Given the description of an element on the screen output the (x, y) to click on. 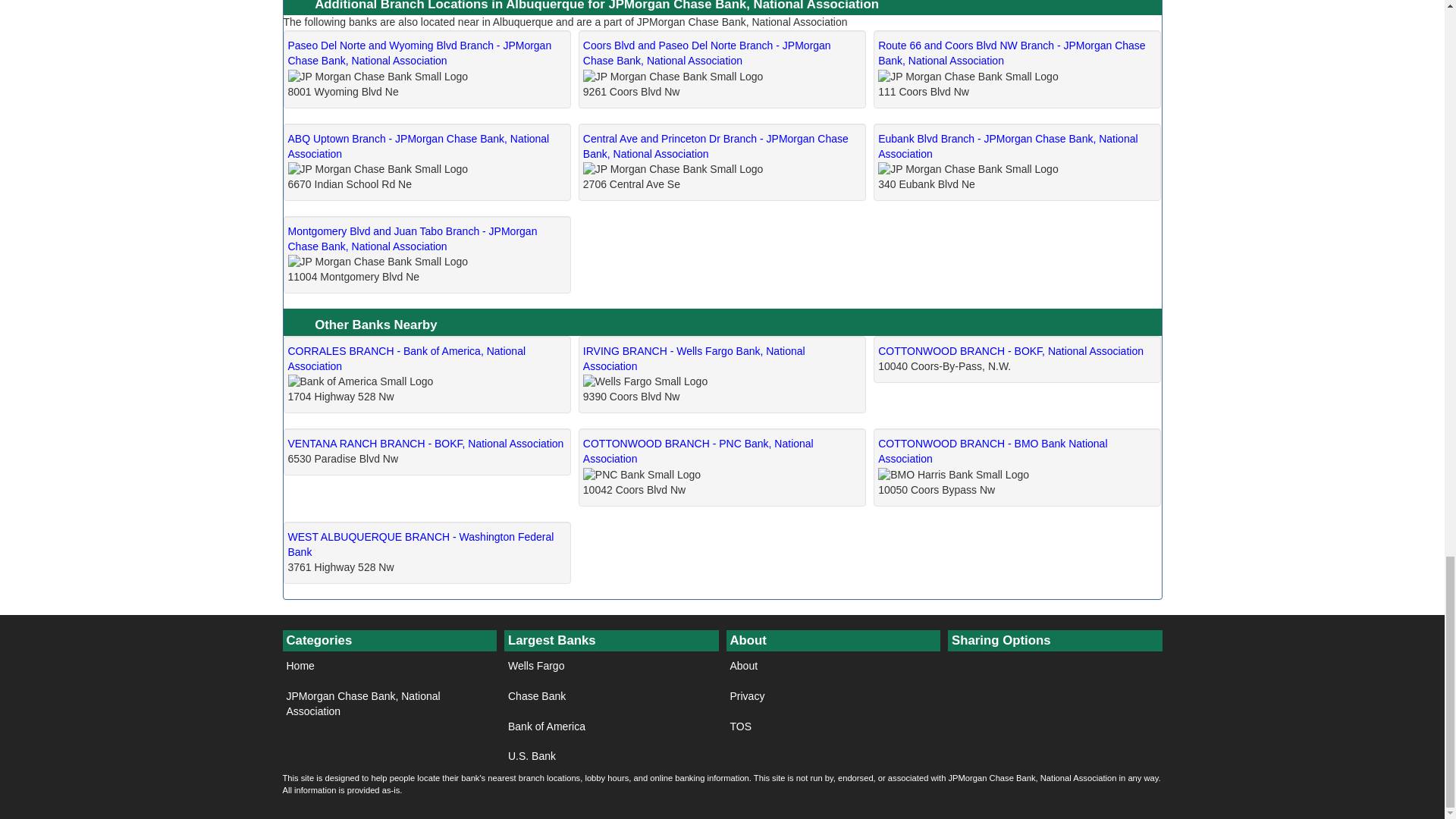
COTTONWOOD BRANCH - BMO Bank National Association (991, 451)
U.S. Bank (611, 757)
Wells Fargo (611, 666)
WEST ALBUQUERQUE BRANCH - Washington Federal Bank (421, 543)
CORRALES BRANCH - Bank of America, National Association (406, 358)
TOS (833, 726)
VENTANA RANCH BRANCH - BOKF, National Association (426, 443)
Privacy (833, 696)
Bank of America (611, 726)
Home (389, 666)
